Given the description of an element on the screen output the (x, y) to click on. 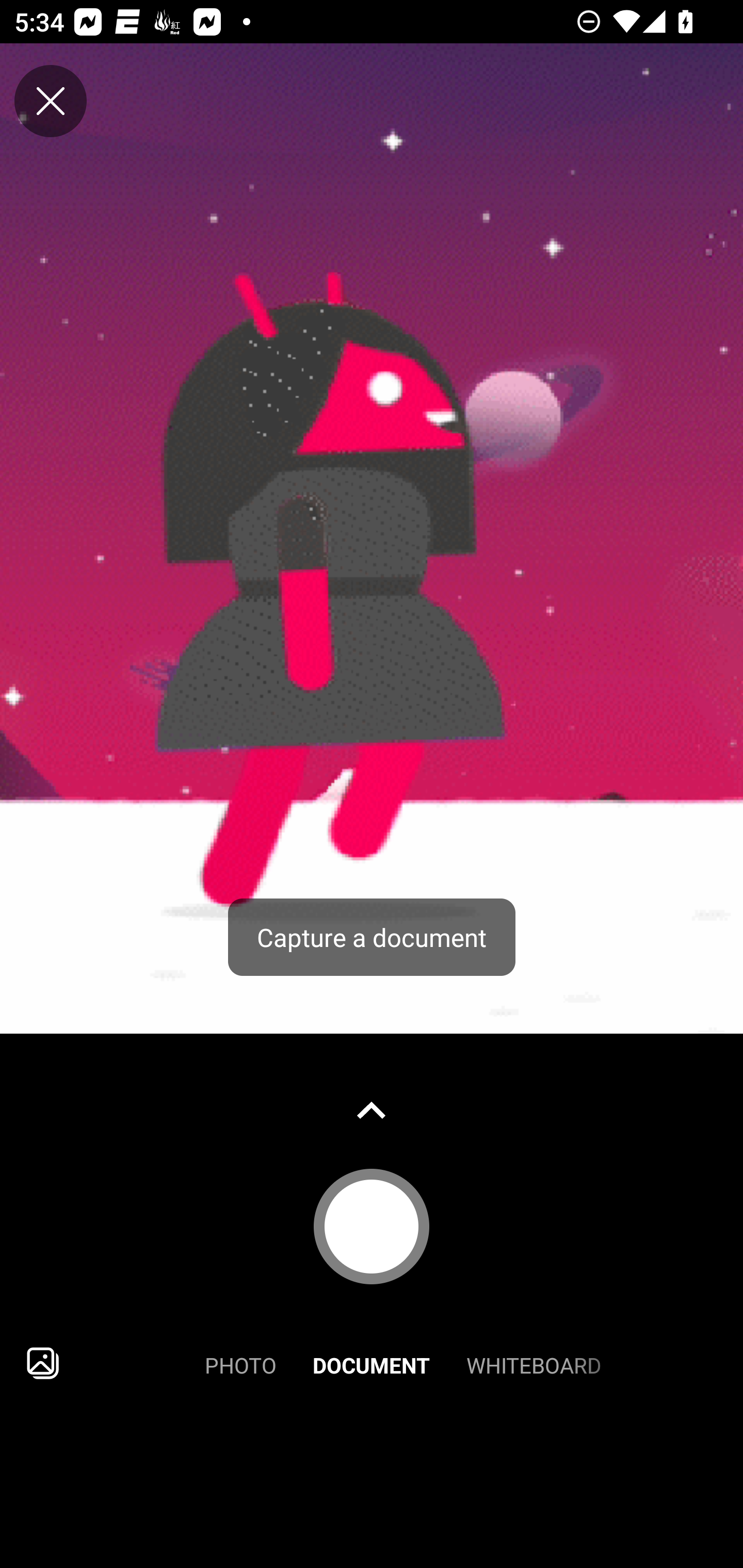
Close (50, 101)
Show gallery (371, 1110)
Capture (371, 1226)
Import (43, 1363)
PHOTO (240, 1362)
DOCUMENT (371, 1362)
WHITEBOARD (533, 1362)
